Given the description of an element on the screen output the (x, y) to click on. 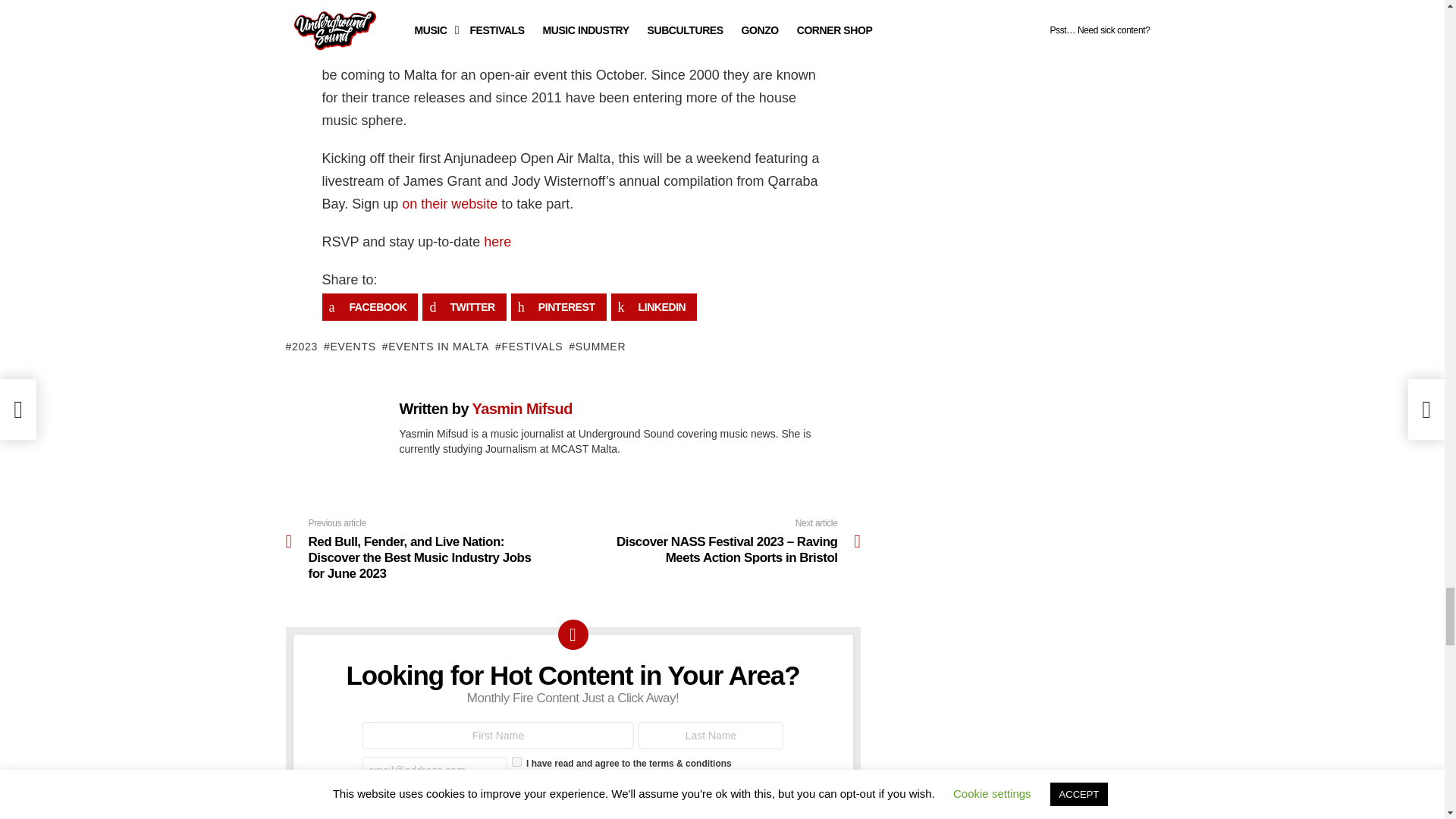
1 (516, 761)
Subscribe (408, 805)
